Given the description of an element on the screen output the (x, y) to click on. 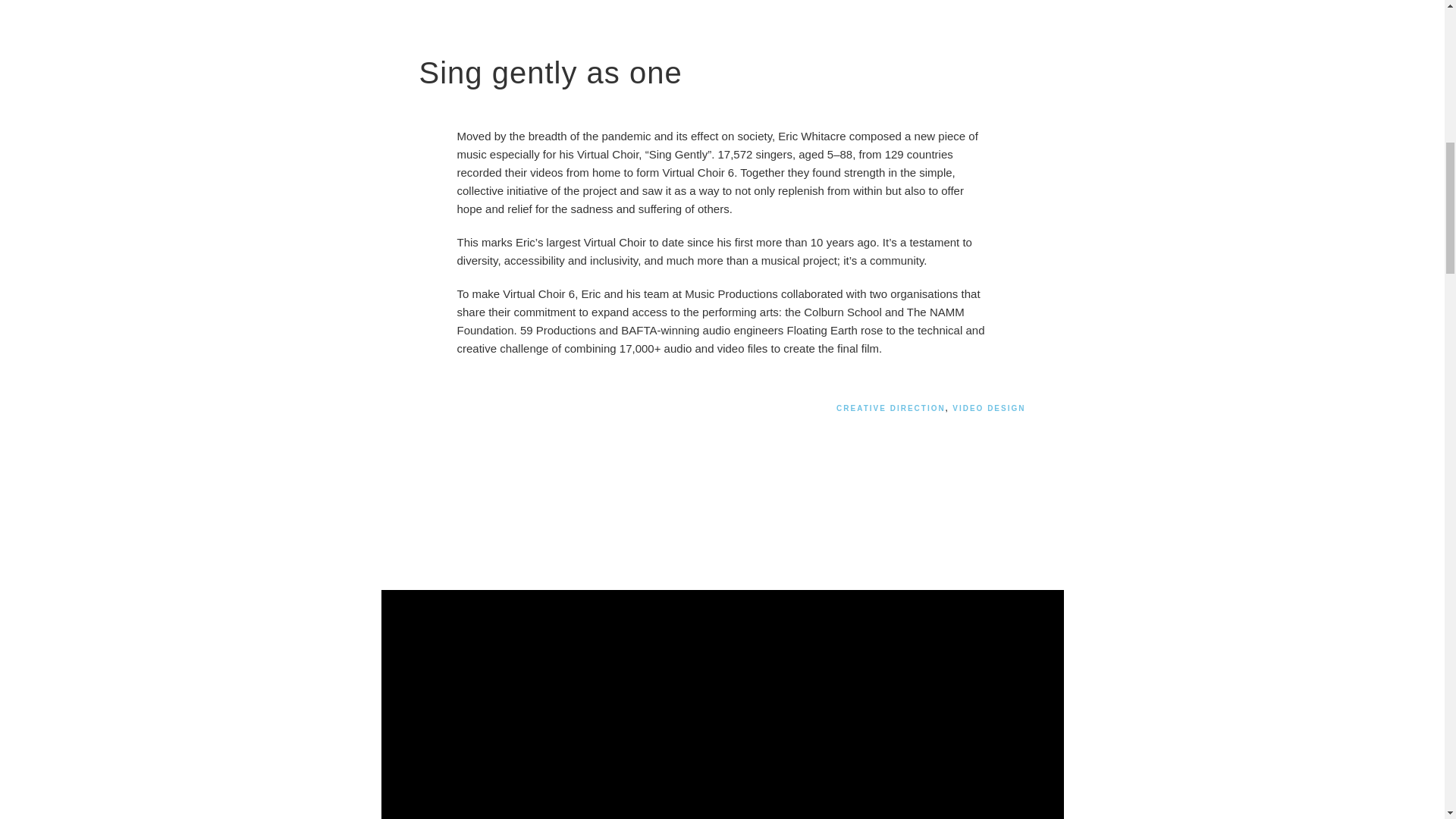
VIDEO DESIGN (988, 408)
CREATIVE DIRECTION (889, 408)
